Given the description of an element on the screen output the (x, y) to click on. 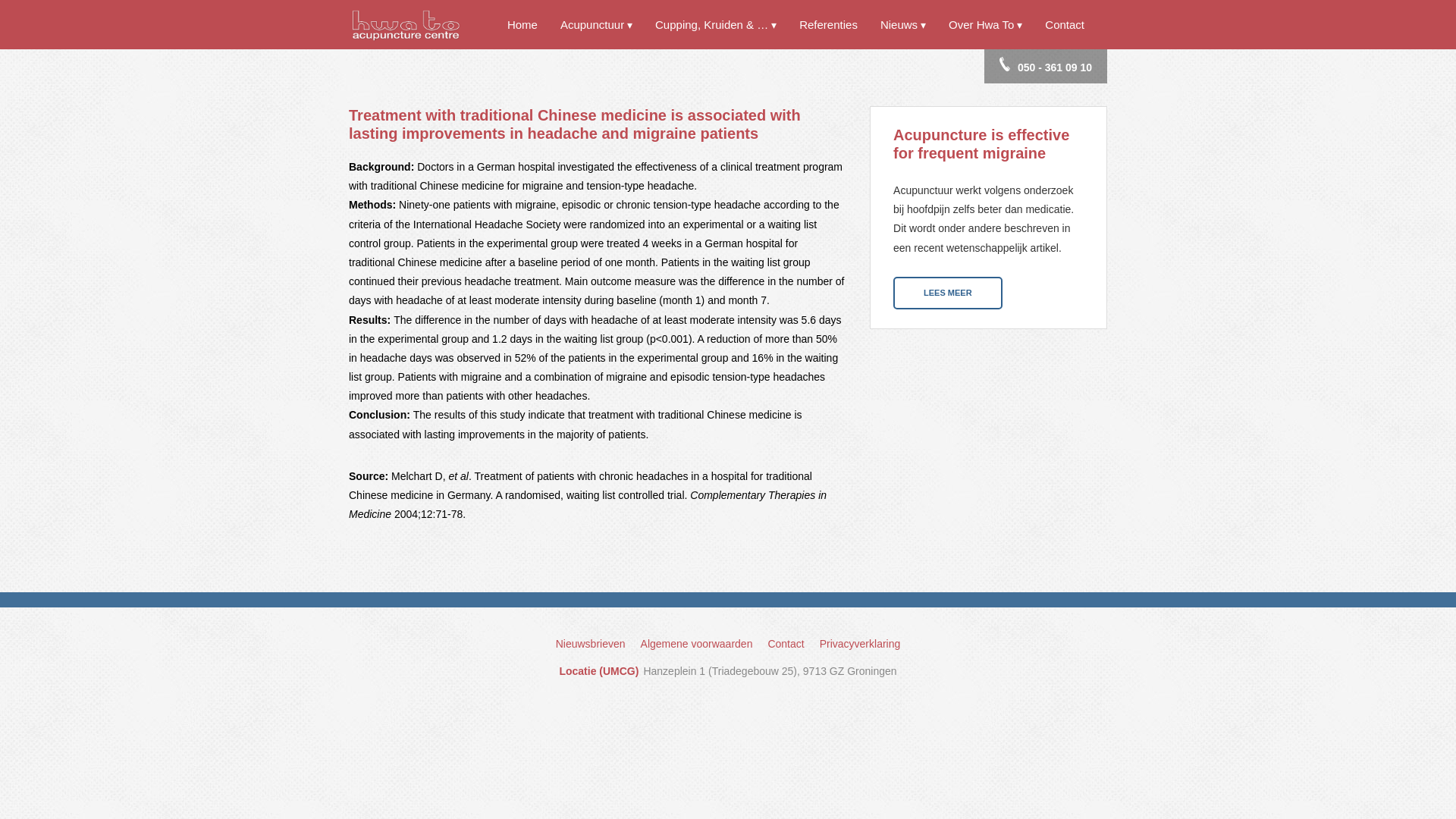
Contact (1064, 24)
Referenties (828, 24)
Acupunctuur (595, 24)
Home (522, 24)
Nieuws (903, 24)
Over Hwa To (985, 24)
